Given the description of an element on the screen output the (x, y) to click on. 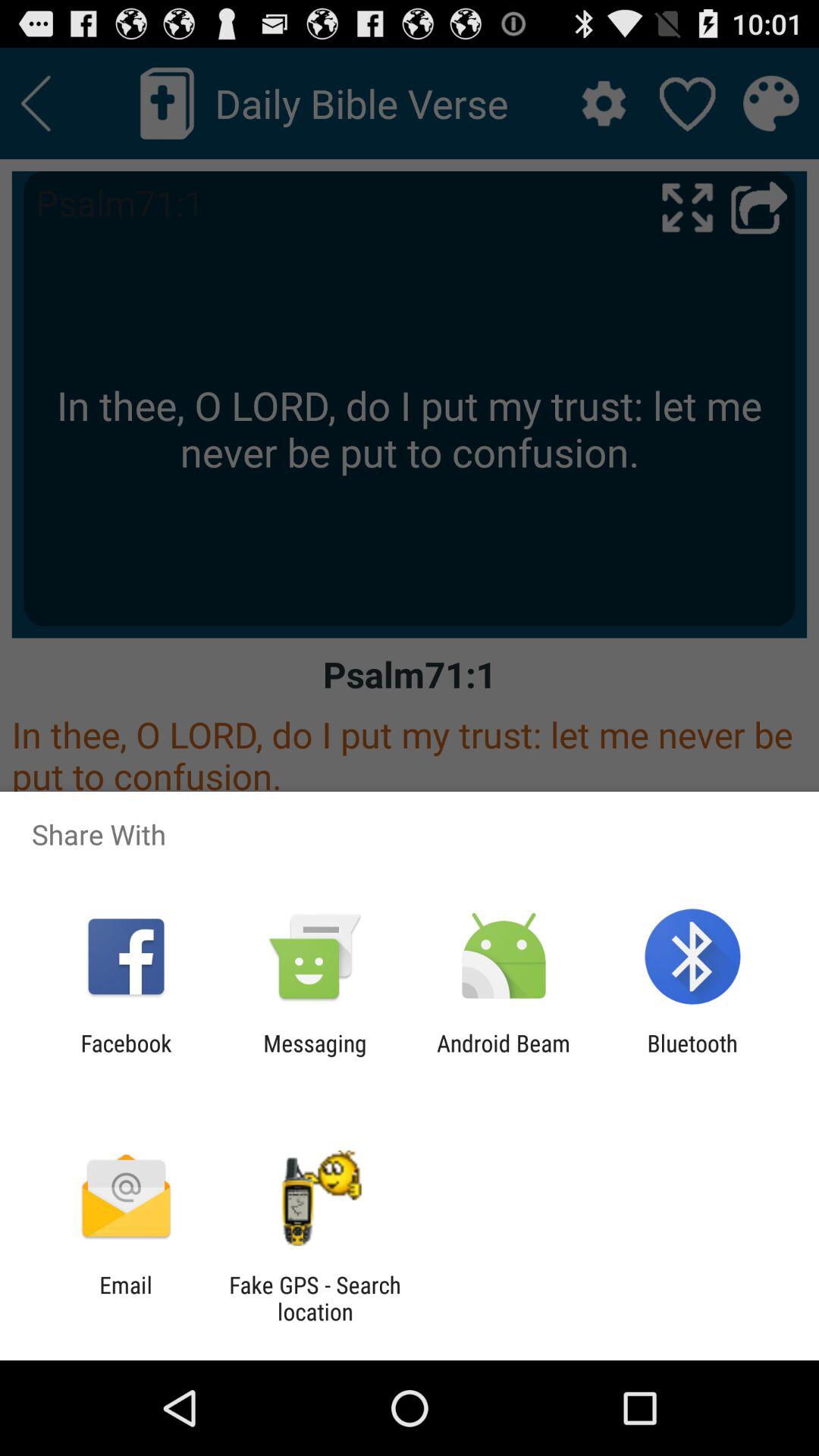
open item next to email item (314, 1298)
